Given the description of an element on the screen output the (x, y) to click on. 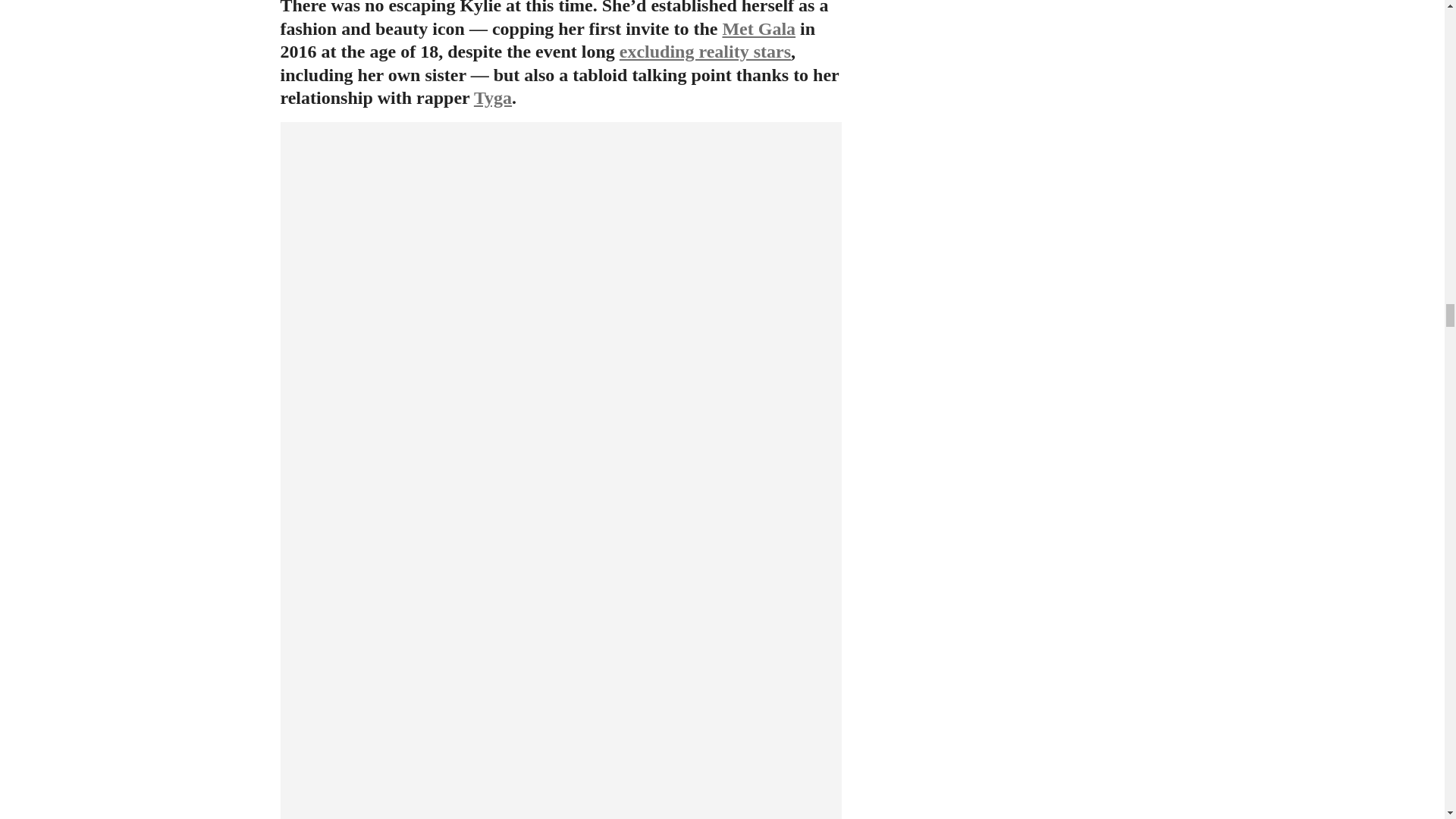
excluding reality stars (705, 51)
Tyga (493, 97)
Met Gala (758, 28)
